Given the description of an element on the screen output the (x, y) to click on. 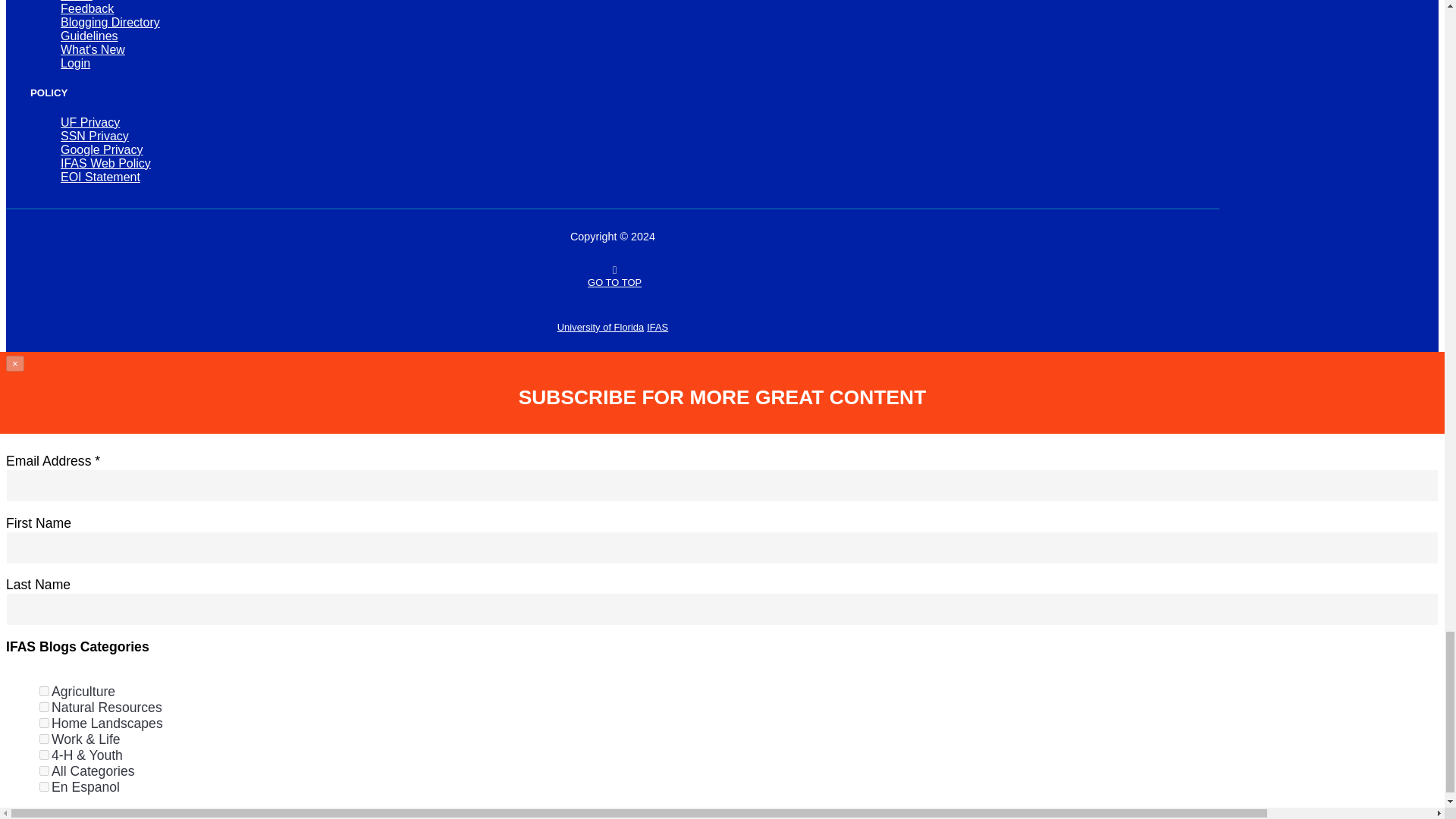
16 (44, 755)
1 (44, 691)
2 (44, 706)
32 (44, 770)
64 (44, 786)
8 (44, 738)
4 (44, 723)
